Given the description of an element on the screen output the (x, y) to click on. 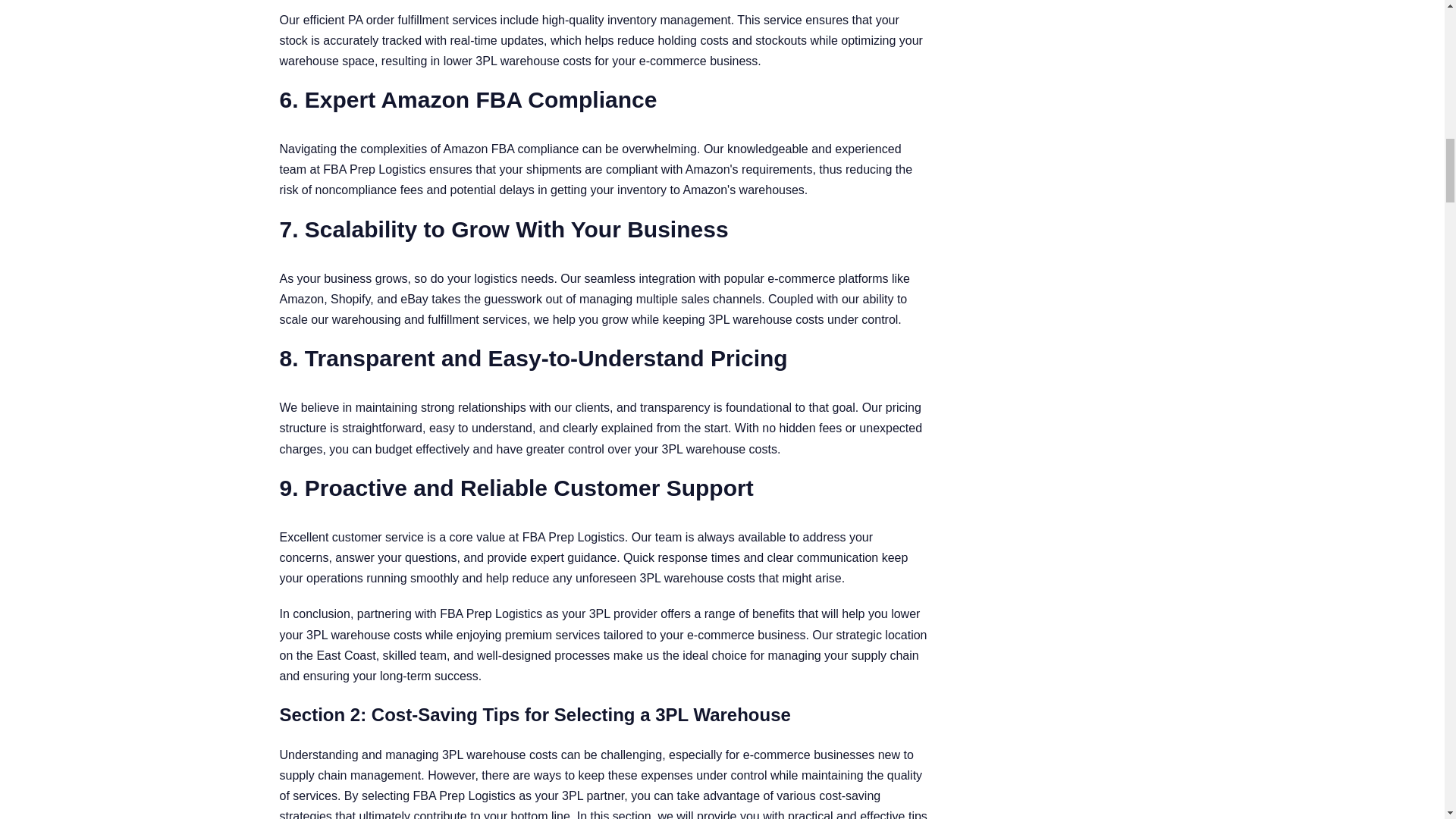
efficient PA order fulfillment services (399, 19)
